Given the description of an element on the screen output the (x, y) to click on. 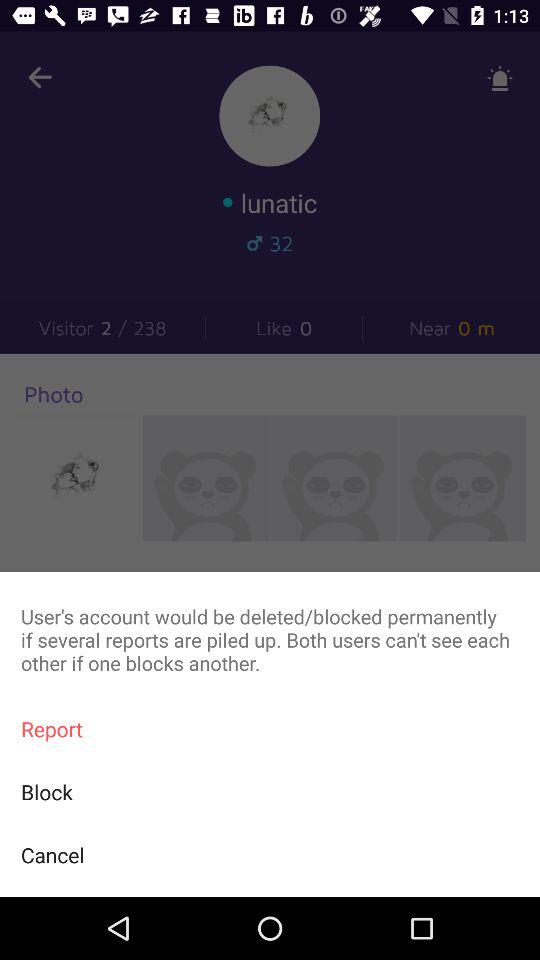
click the report item (270, 728)
